Given the description of an element on the screen output the (x, y) to click on. 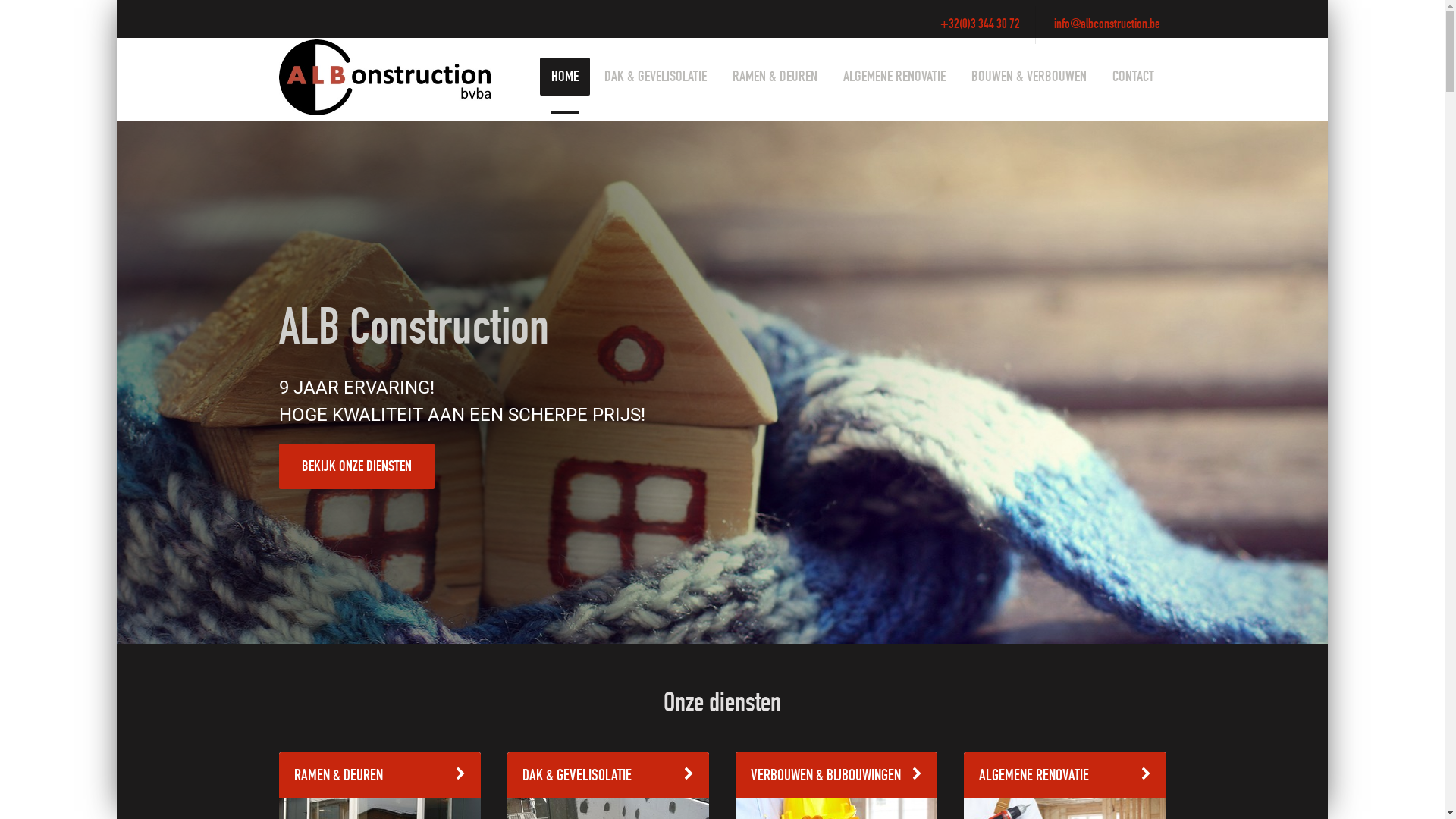
RAMEN & DEUREN Element type: text (774, 76)
info@albconstruction.be Element type: text (1107, 24)
BEKIJK ONZE DIENSTEN Element type: text (356, 466)
VERBOUWEN & BIJBOUWINGEN Element type: text (836, 774)
+32(0)3 344 30 72 Element type: text (979, 24)
HOME Element type: text (564, 76)
DAK & GEVELISOLATIE Element type: text (607, 774)
CONTACT Element type: text (1133, 76)
RAMEN & DEUREN Element type: text (379, 774)
DAK & GEVELISOLATIE Element type: text (655, 76)
ALGEMENE RENOVATIE Element type: text (894, 76)
ALGEMENE RENOVATIE Element type: text (1064, 774)
BOUWEN & VERBOUWEN Element type: text (1029, 76)
